Given the description of an element on the screen output the (x, y) to click on. 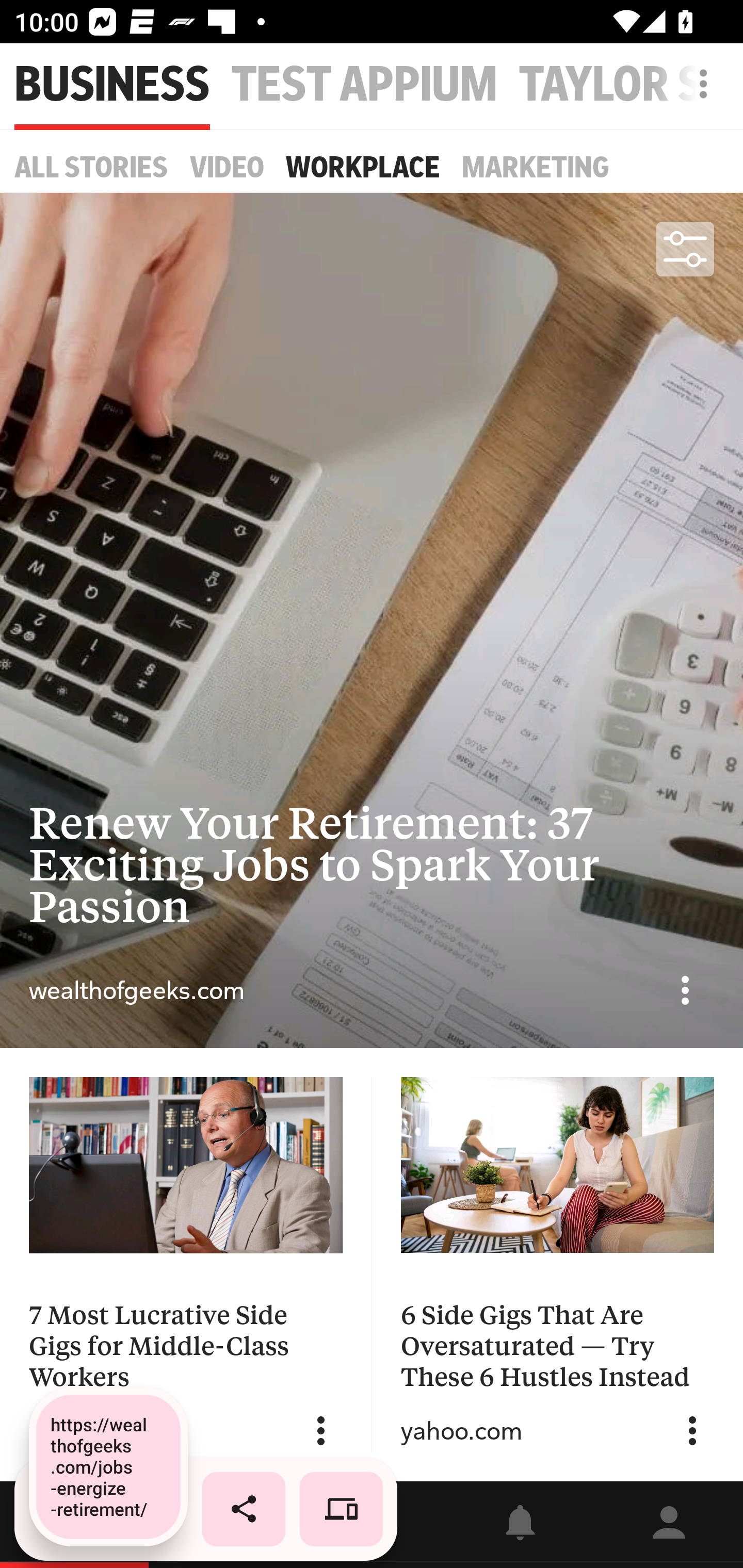
BUSINESS (112, 84)
TEST APPIUM (364, 84)
TAYLOR SWIFT  (631, 84)
Edit Home (697, 83)
ALL STORIES (90, 166)
VIDEO (227, 166)
WORKPLACE (362, 166)
MARKETING (535, 166)
Options (685, 989)
Options (320, 1430)
Options (692, 1430)
Notifications (519, 1524)
Profile (668, 1524)
